Given the description of an element on the screen output the (x, y) to click on. 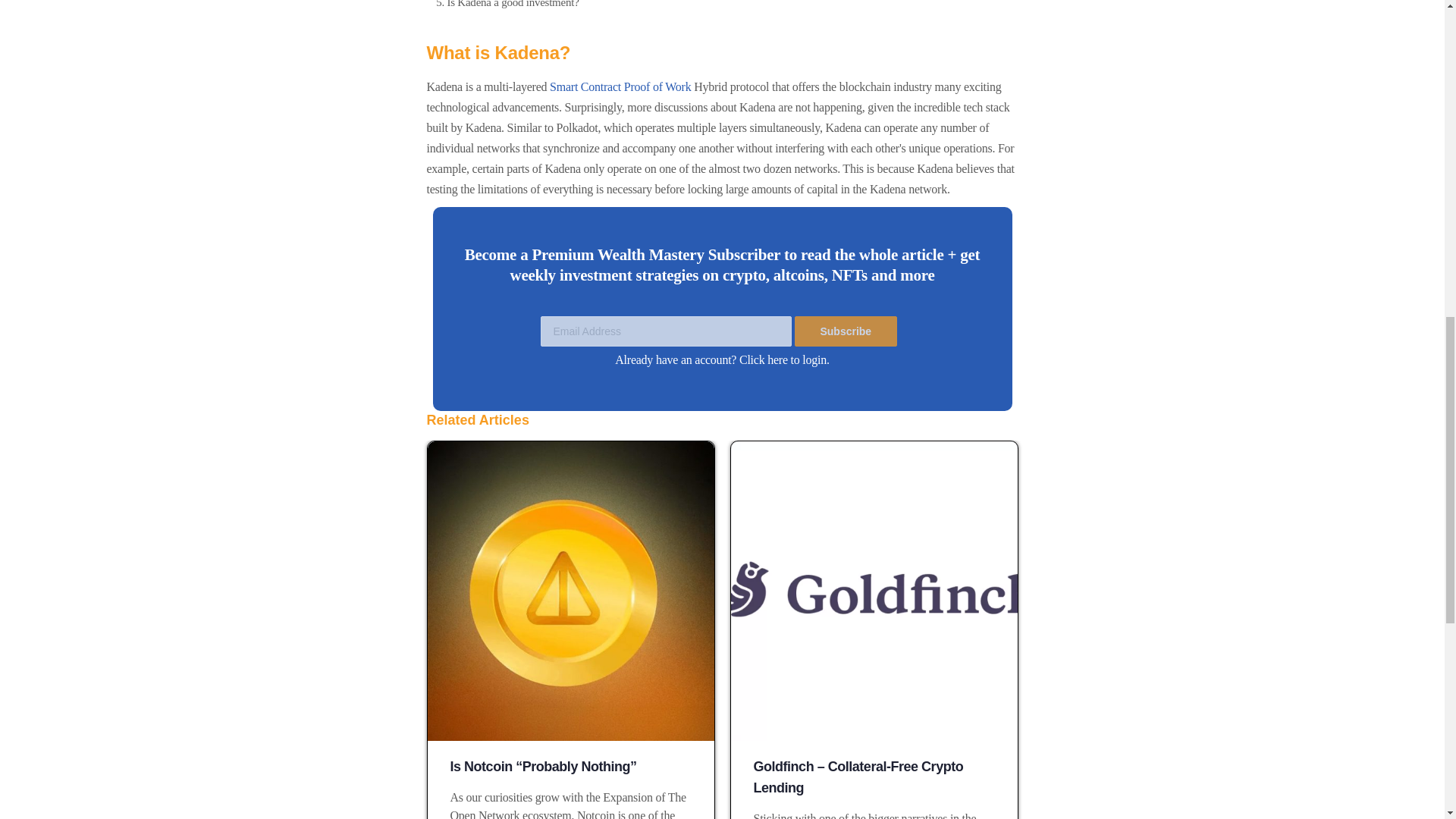
Subscribe (845, 331)
Goldfinch - Collateral-Free Crypto Lending - - 2024 (873, 591)
Is Notcoin "Probably Nothing" - - 2024 (571, 591)
